Given the description of an element on the screen output the (x, y) to click on. 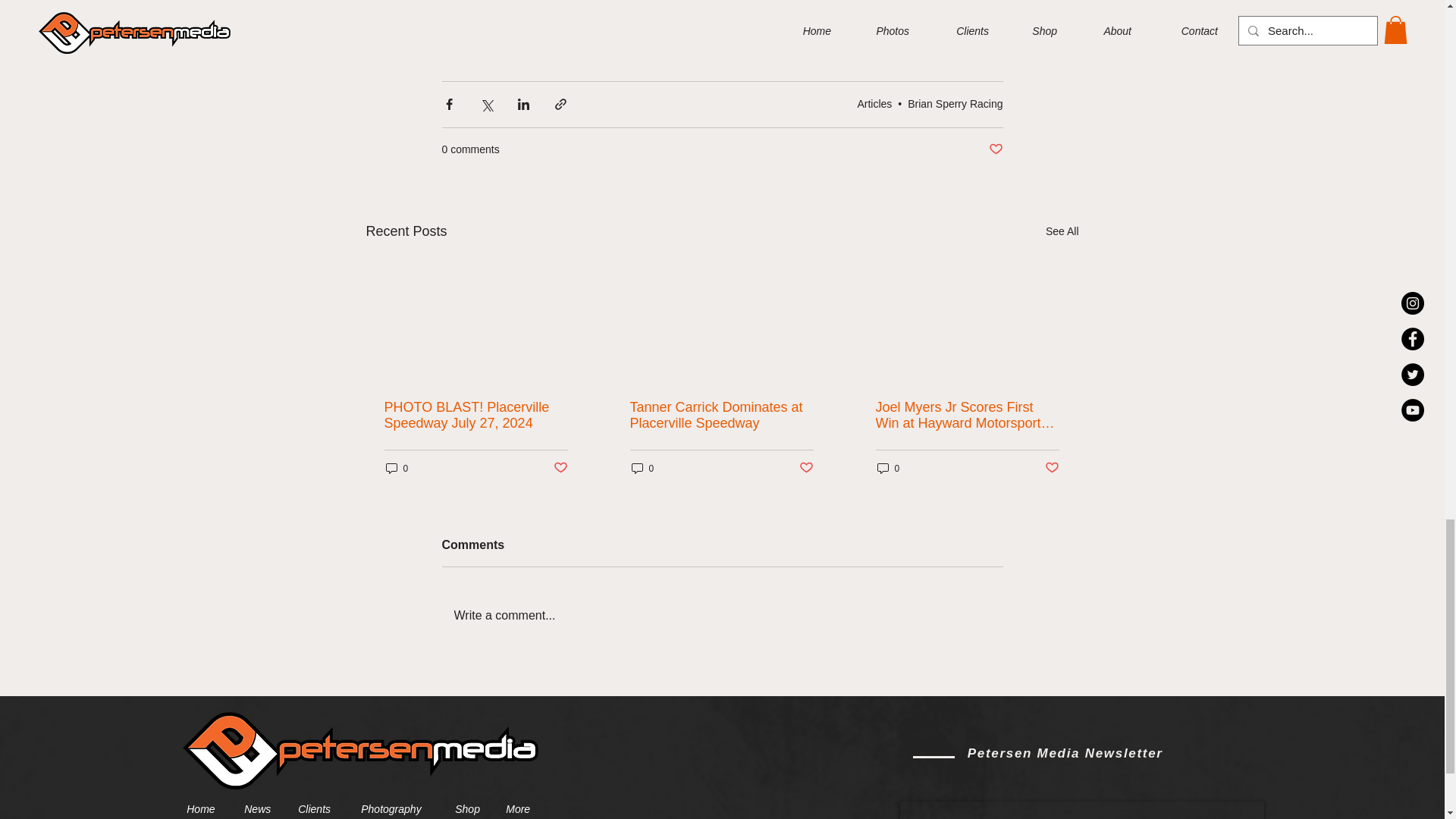
See All (1061, 231)
Articles (874, 103)
Post not marked as liked (995, 149)
Brian Sperry Racing (955, 103)
